Given the description of an element on the screen output the (x, y) to click on. 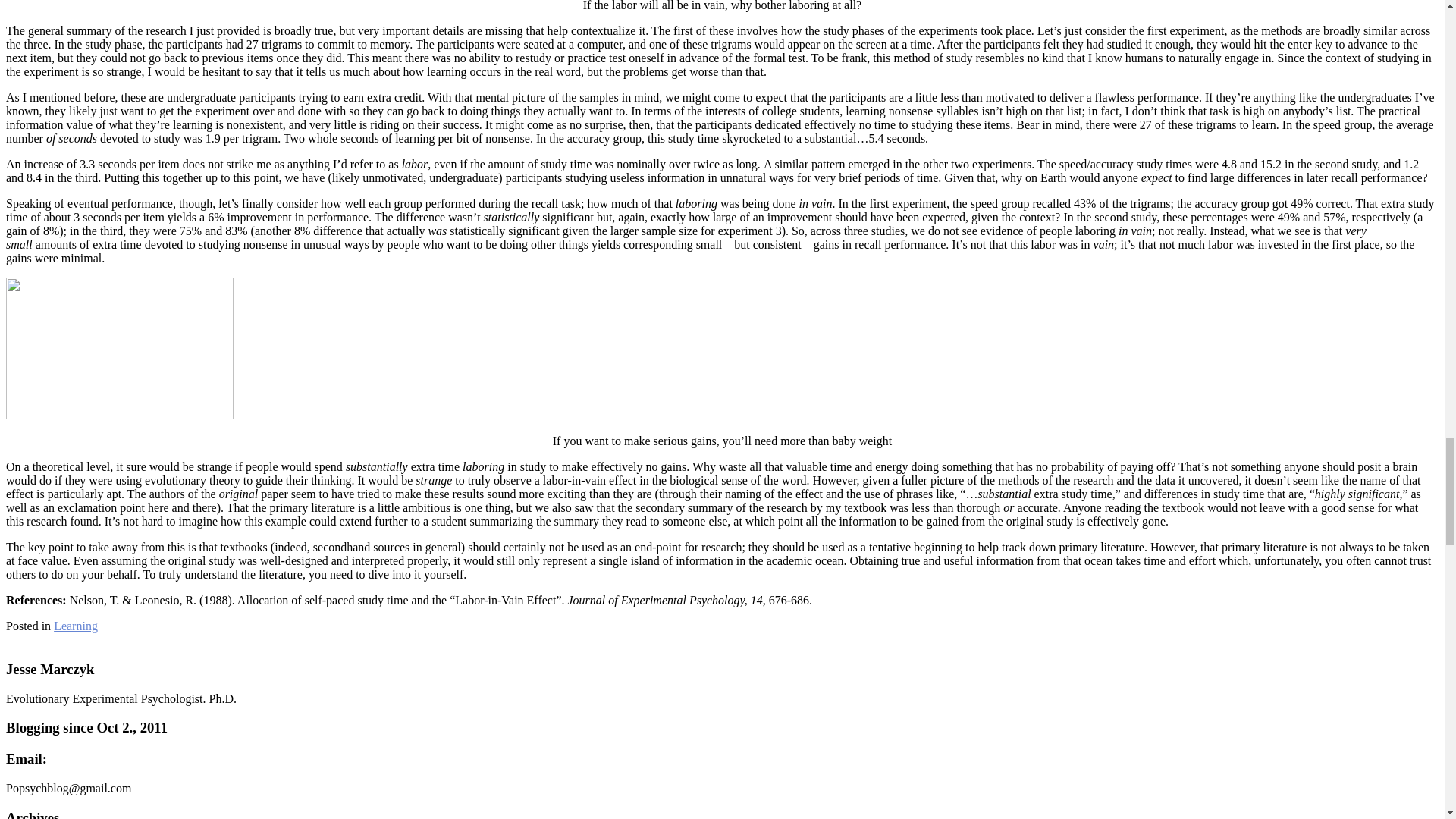
Learning (75, 625)
